Given the description of an element on the screen output the (x, y) to click on. 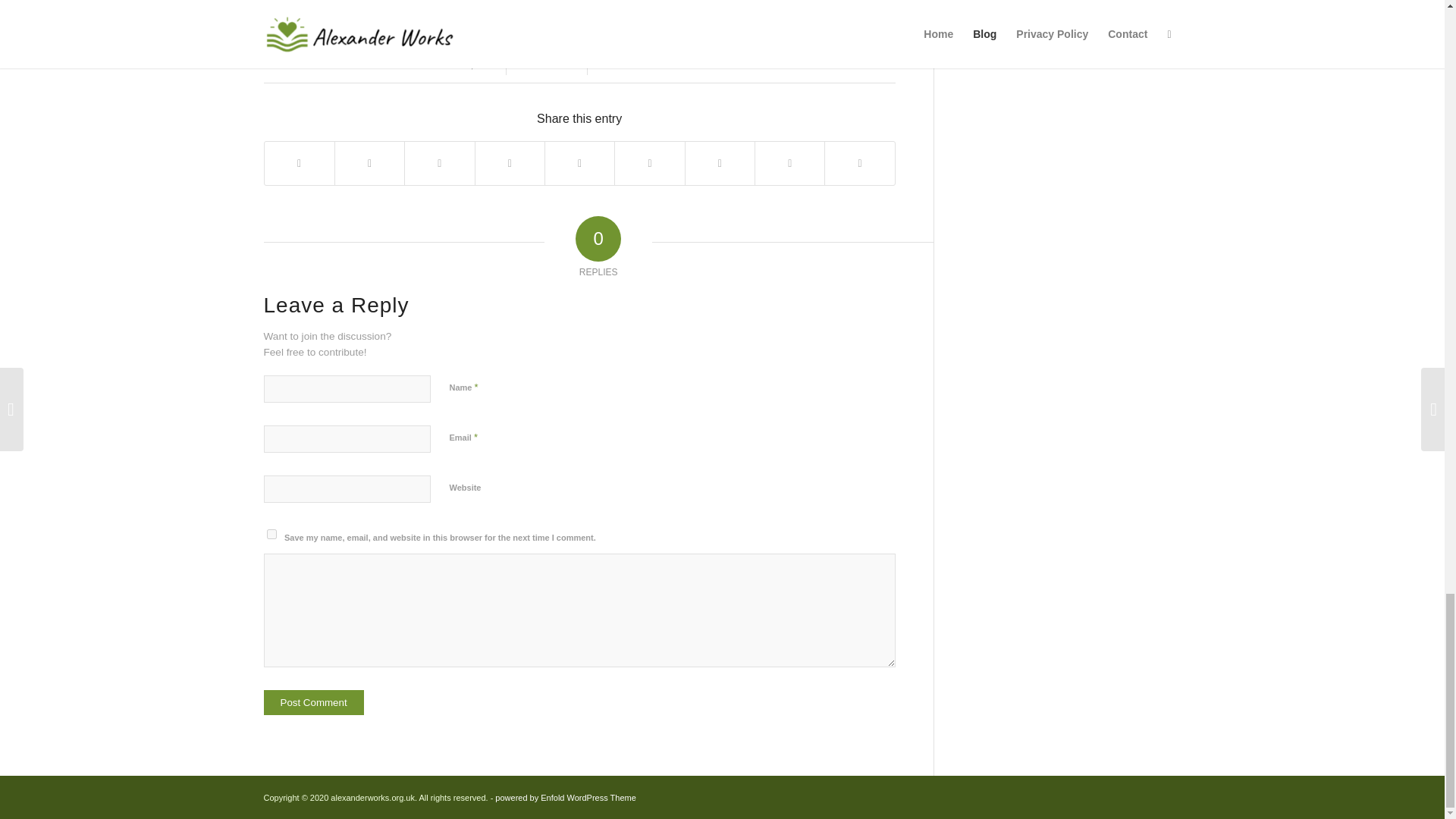
yes (271, 533)
Post Comment (313, 702)
0 COMMENTS (546, 64)
Post Comment (313, 702)
Posts by Maureen C. Infante (664, 64)
MAUREEN C. INFANTE (664, 64)
